Given the description of an element on the screen output the (x, y) to click on. 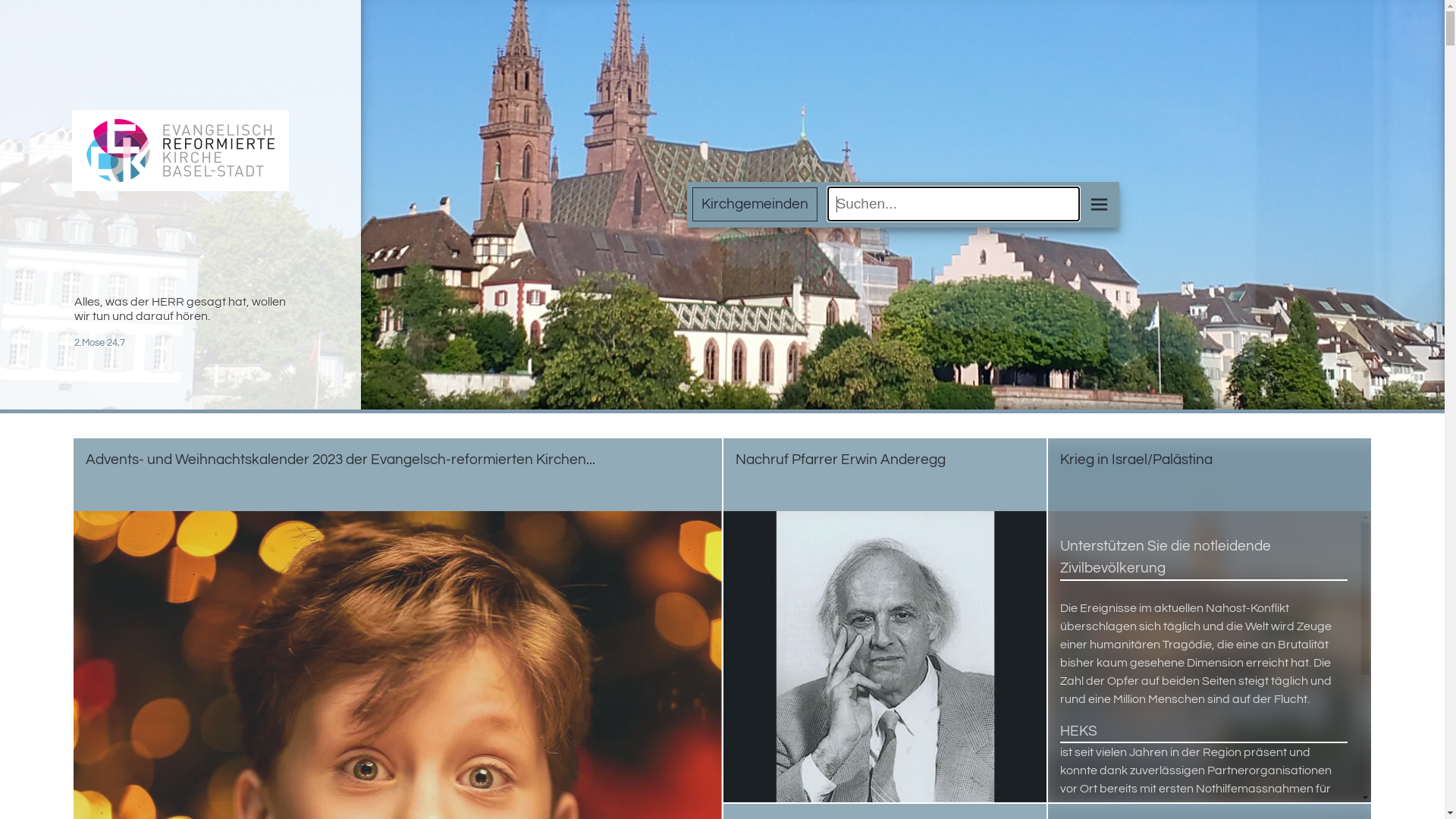
2.Mose 24,7 Element type: text (99, 343)
Anderegg (Foto: zvg) Element type: hover (884, 656)
Nachruf Pfarrer Erwin Anderegg Element type: text (884, 620)
Kirchgemeinden Element type: text (754, 204)
